Given the description of an element on the screen output the (x, y) to click on. 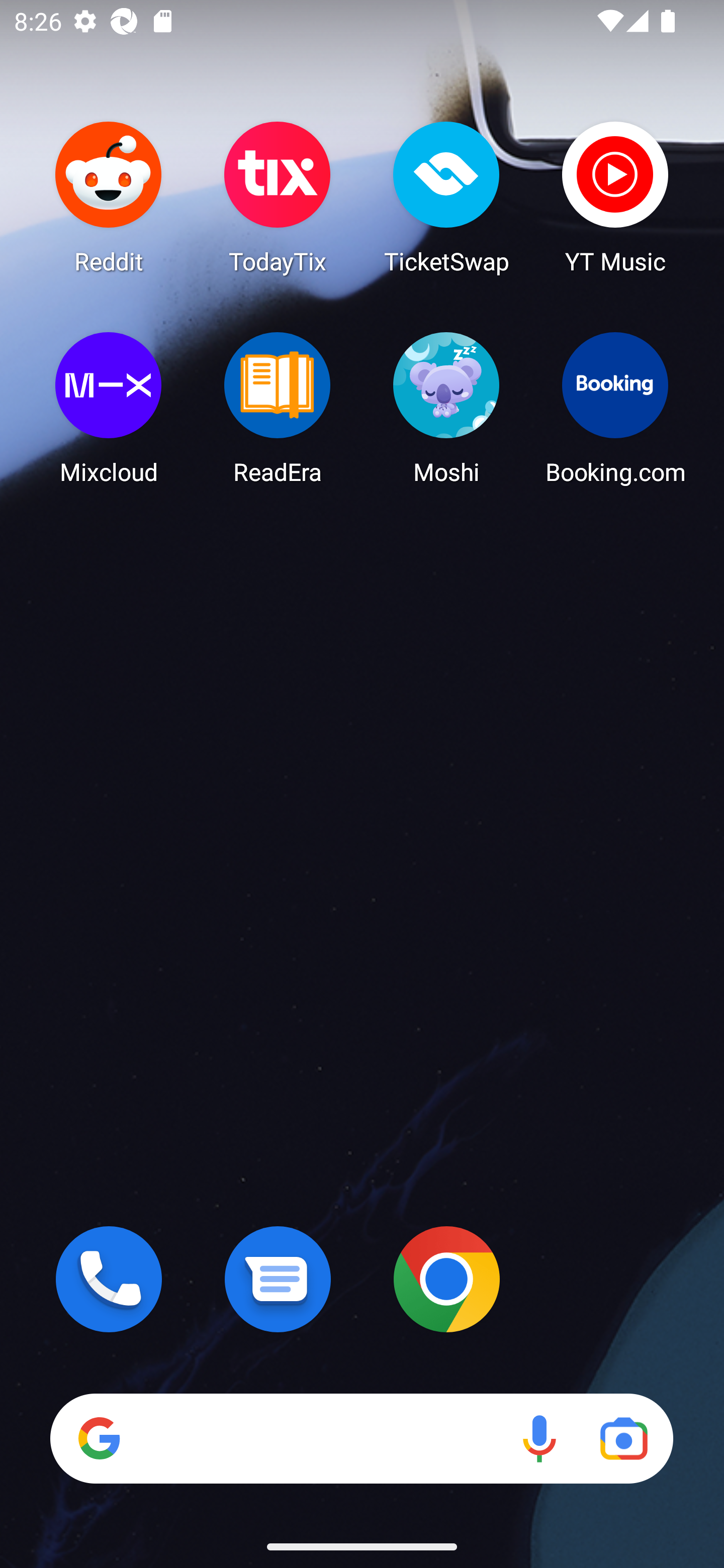
Reddit (108, 196)
TodayTix (277, 196)
TicketSwap (445, 196)
YT Music (615, 196)
Mixcloud (108, 407)
ReadEra (277, 407)
Moshi (445, 407)
Booking.com (615, 407)
Phone (108, 1279)
Messages (277, 1279)
Chrome (446, 1279)
Search Voice search Google Lens (361, 1438)
Voice search (539, 1438)
Google Lens (623, 1438)
